Given the description of an element on the screen output the (x, y) to click on. 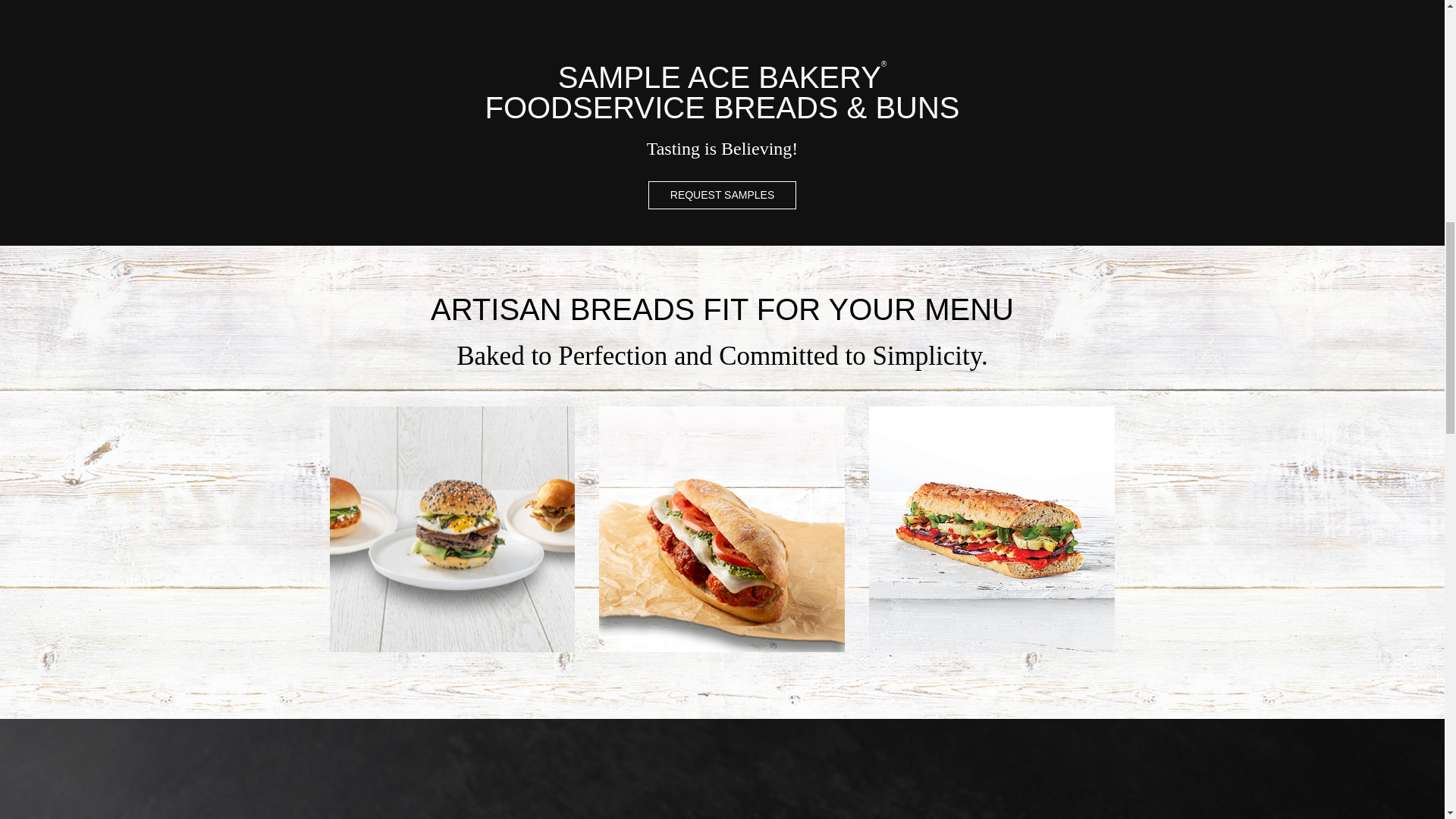
REQUEST SAMPLES (721, 194)
